Given the description of an element on the screen output the (x, y) to click on. 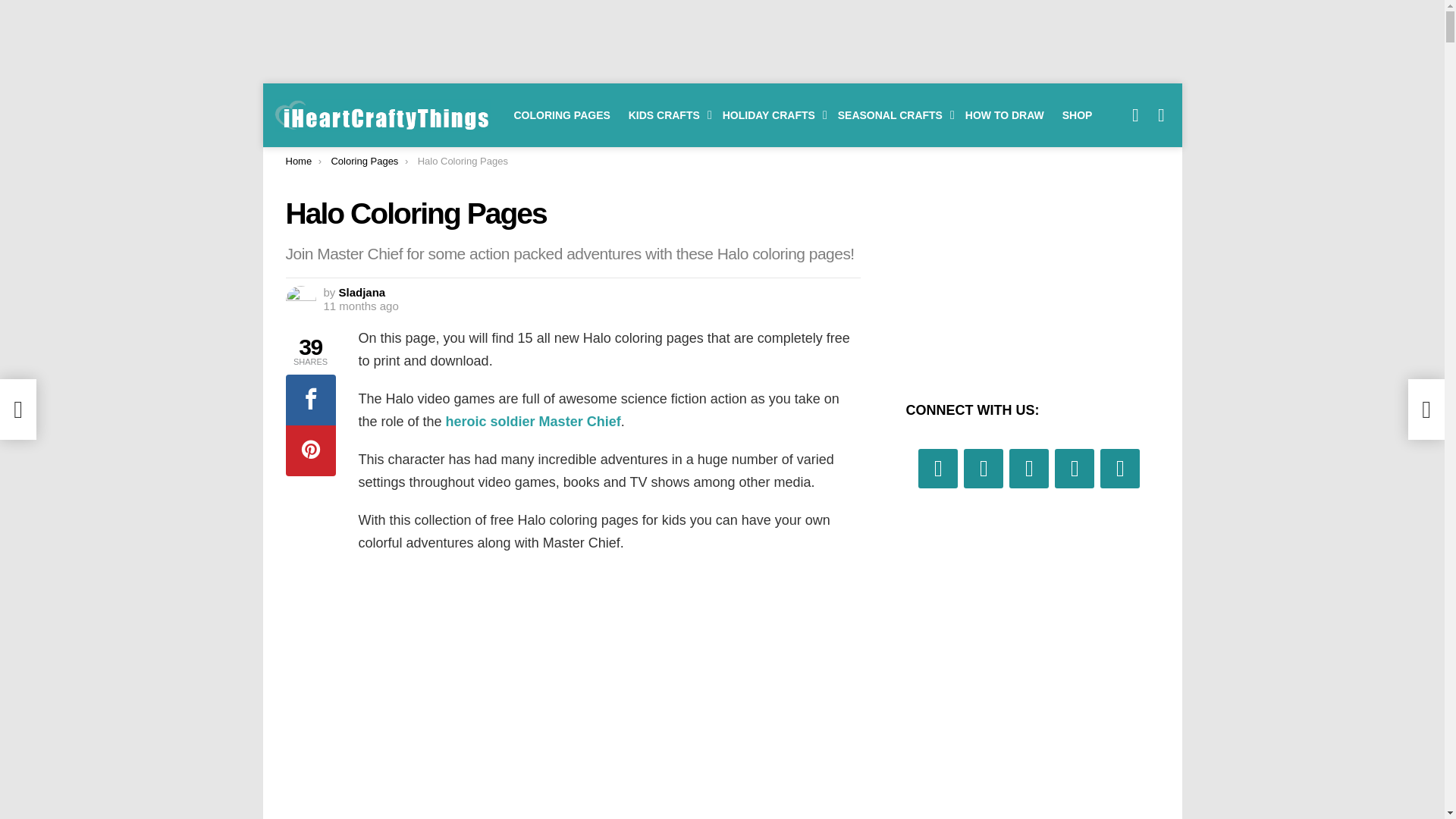
SEASONAL CRAFTS (892, 115)
KIDS CRAFTS (666, 115)
HOLIDAY CRAFTS (770, 115)
Posts by Sladjana (362, 291)
September 14, 2023, 3:03 AM (360, 305)
HOW TO DRAW (1004, 115)
SHOP (1077, 115)
COLORING PAGES (561, 115)
